Given the description of an element on the screen output the (x, y) to click on. 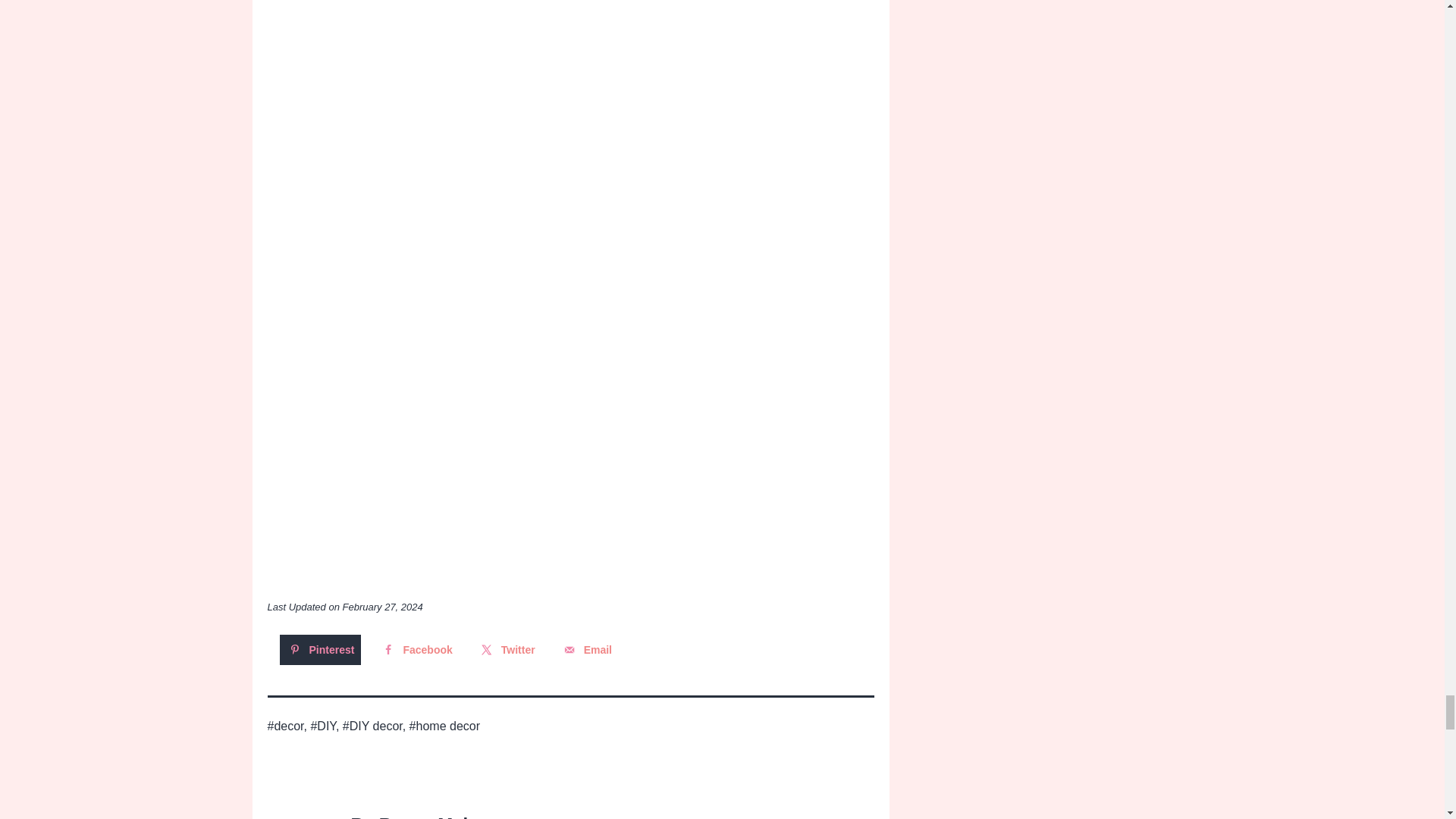
Save to Pinterest (320, 649)
Share on Facebook (415, 649)
Share on X (506, 649)
Send over email (586, 649)
